Given the description of an element on the screen output the (x, y) to click on. 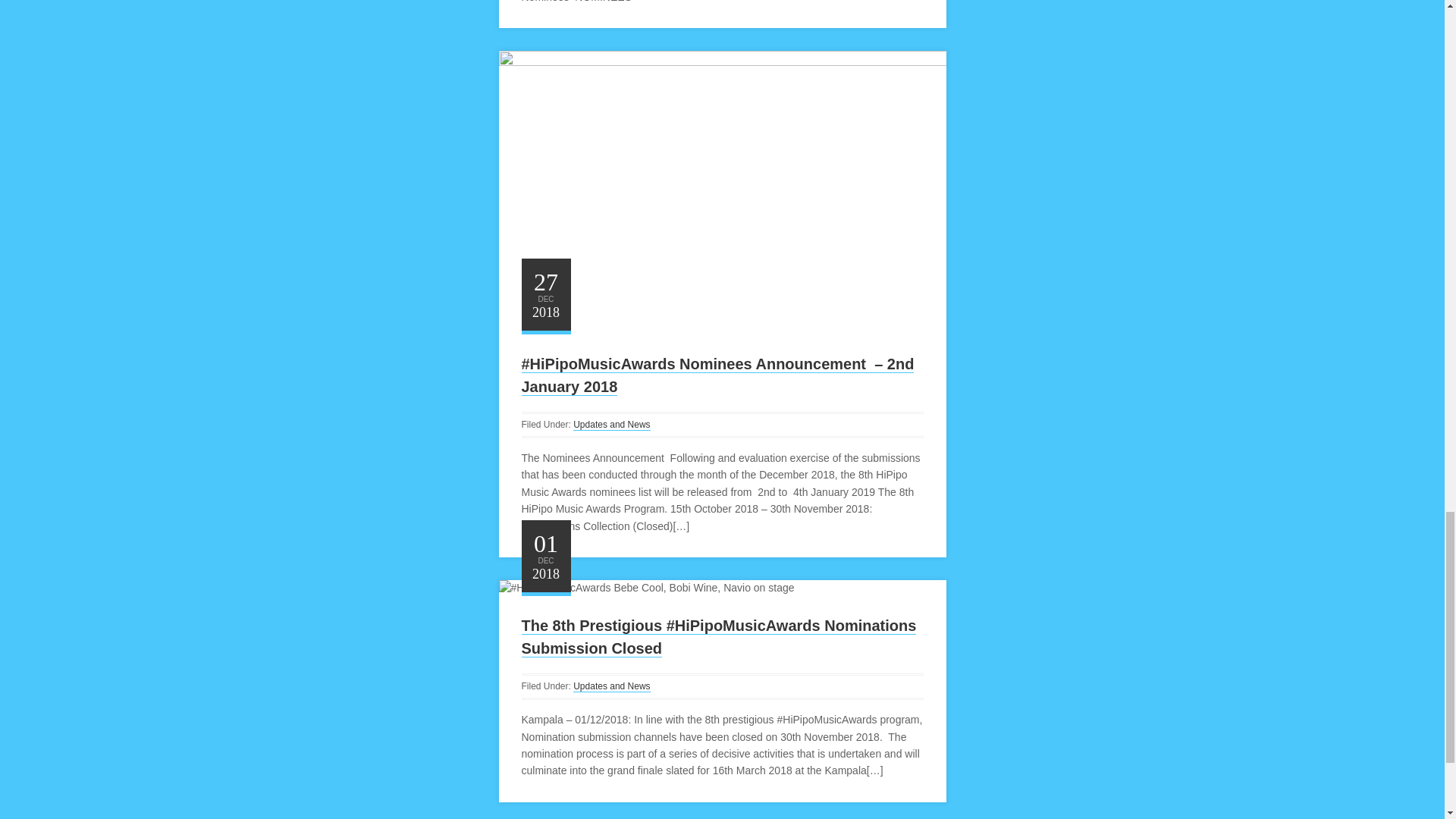
Updates and News (611, 424)
Updates and News (611, 686)
